Given the description of an element on the screen output the (x, y) to click on. 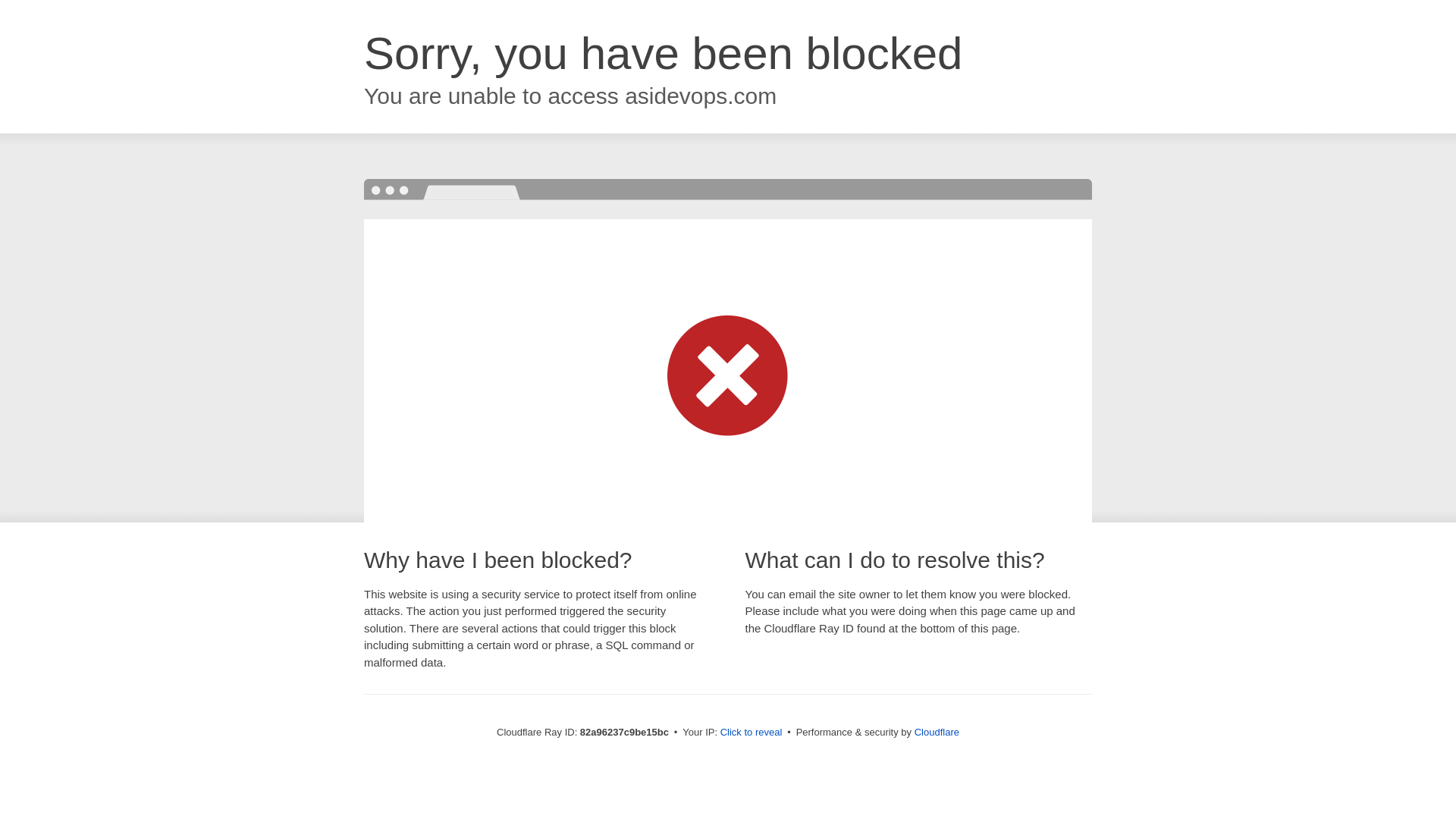
Click to reveal Element type: text (751, 732)
Cloudflare Element type: text (936, 731)
